Given the description of an element on the screen output the (x, y) to click on. 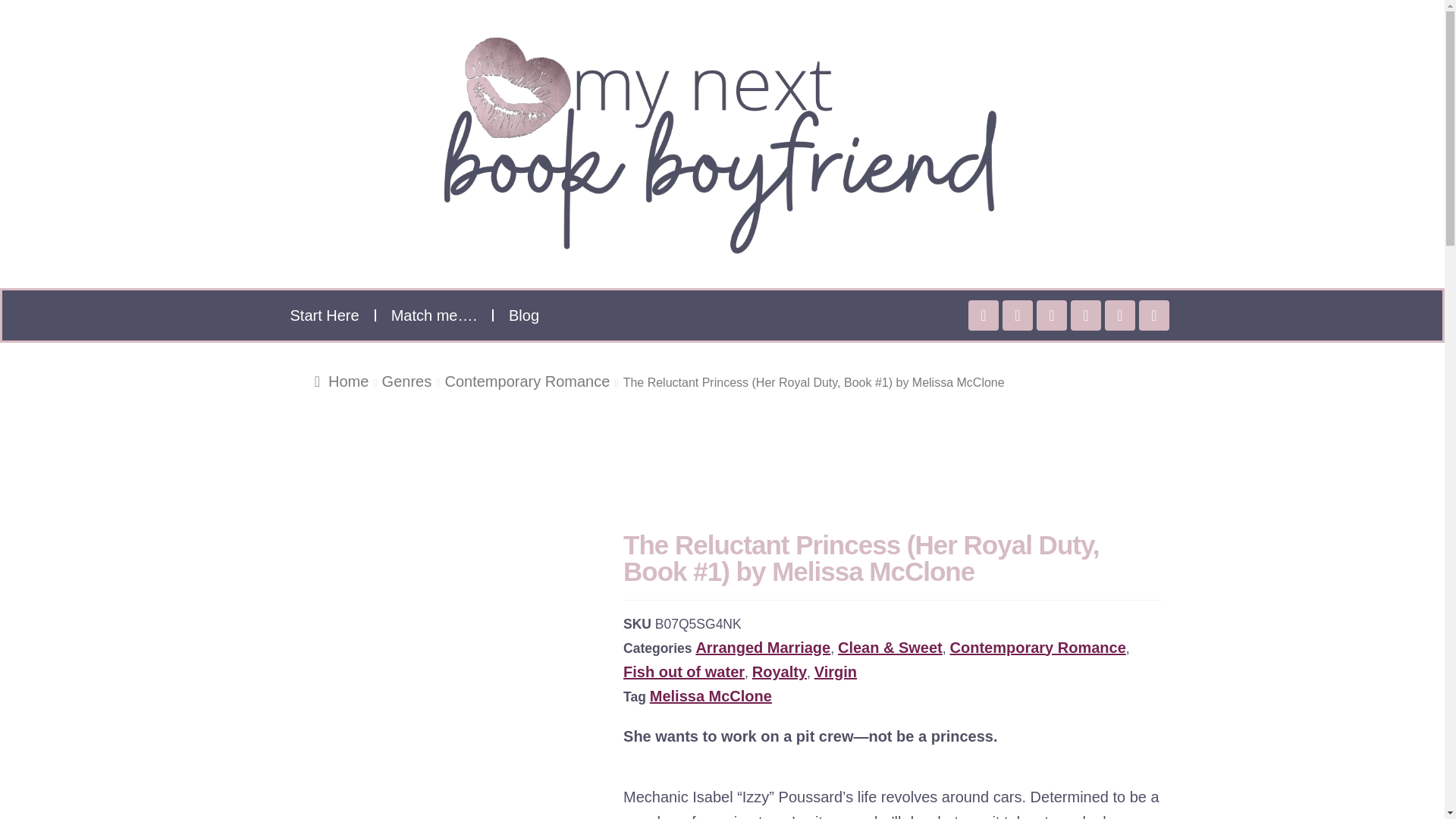
Royalty (779, 671)
Melissa McClone (710, 695)
Start Here (324, 315)
Blog (523, 315)
Contemporary Romance (1037, 646)
Arranged Marriage (762, 646)
Virgin (835, 671)
Fish out of water (683, 671)
Contemporary Romance (527, 381)
Genres (406, 381)
